Given the description of an element on the screen output the (x, y) to click on. 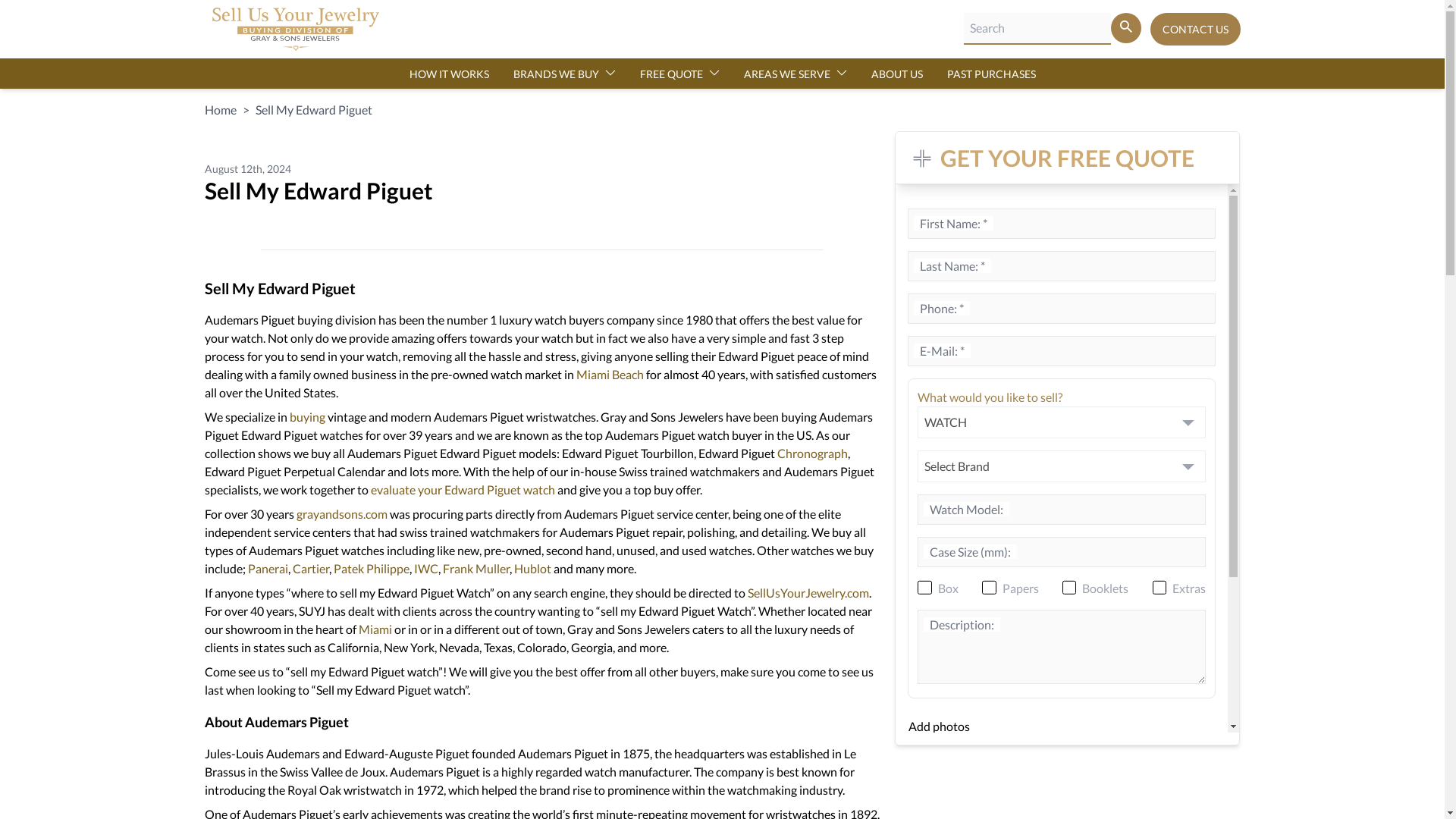
HOW IT WORKS (449, 73)
CONTACT US (1195, 29)
Papers (988, 587)
Search (1124, 28)
ABOUT US (895, 73)
Sell My Edward Piguet (312, 109)
Miami Beach (609, 373)
Booklets (1068, 587)
buying (308, 416)
Box (924, 587)
